Given the description of an element on the screen output the (x, y) to click on. 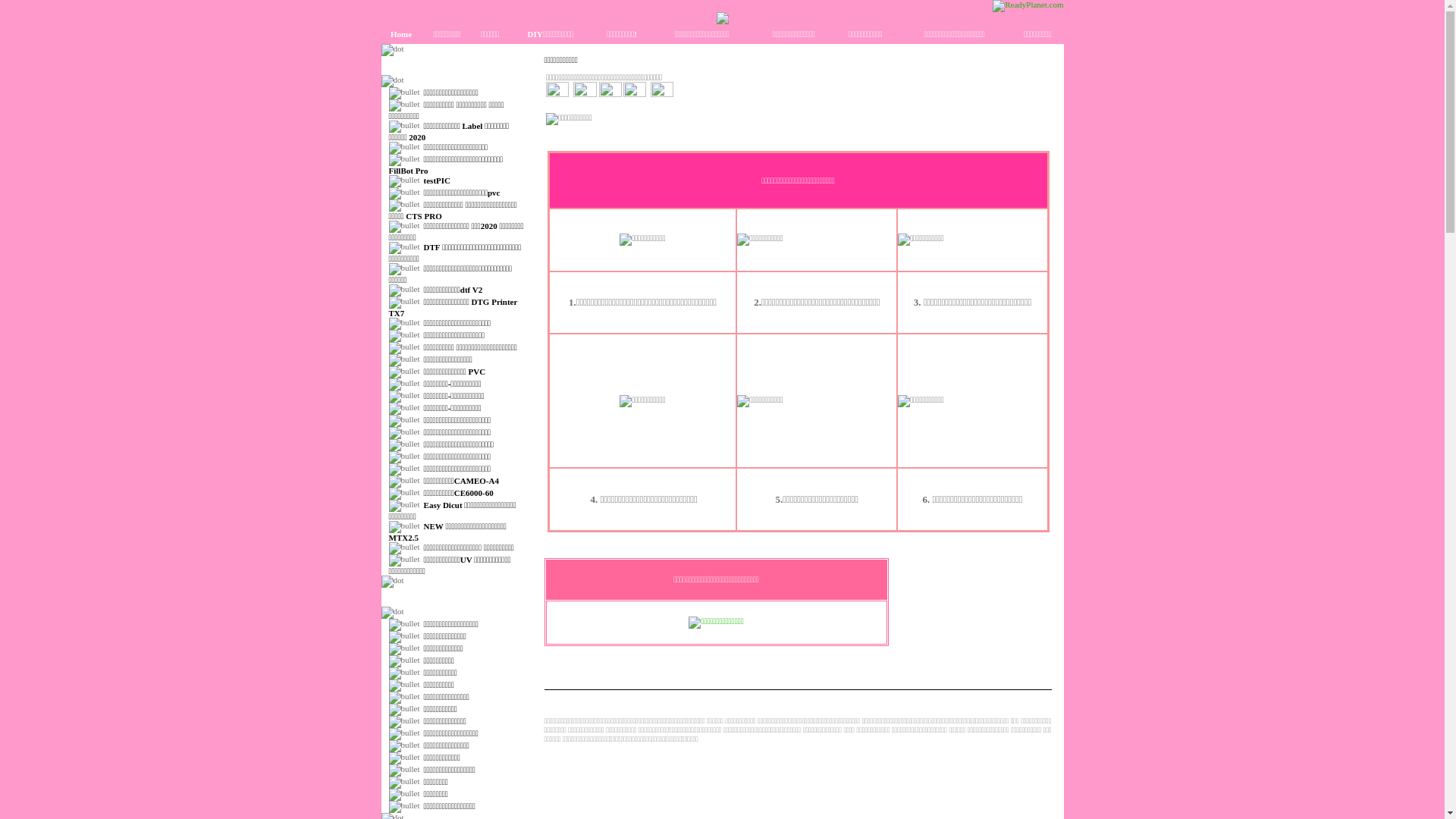
ReadyPlanet.com Element type: hover (1027, 6)
testPIC Element type: text (436, 180)
Home Element type: text (400, 33)
